Given the description of an element on the screen output the (x, y) to click on. 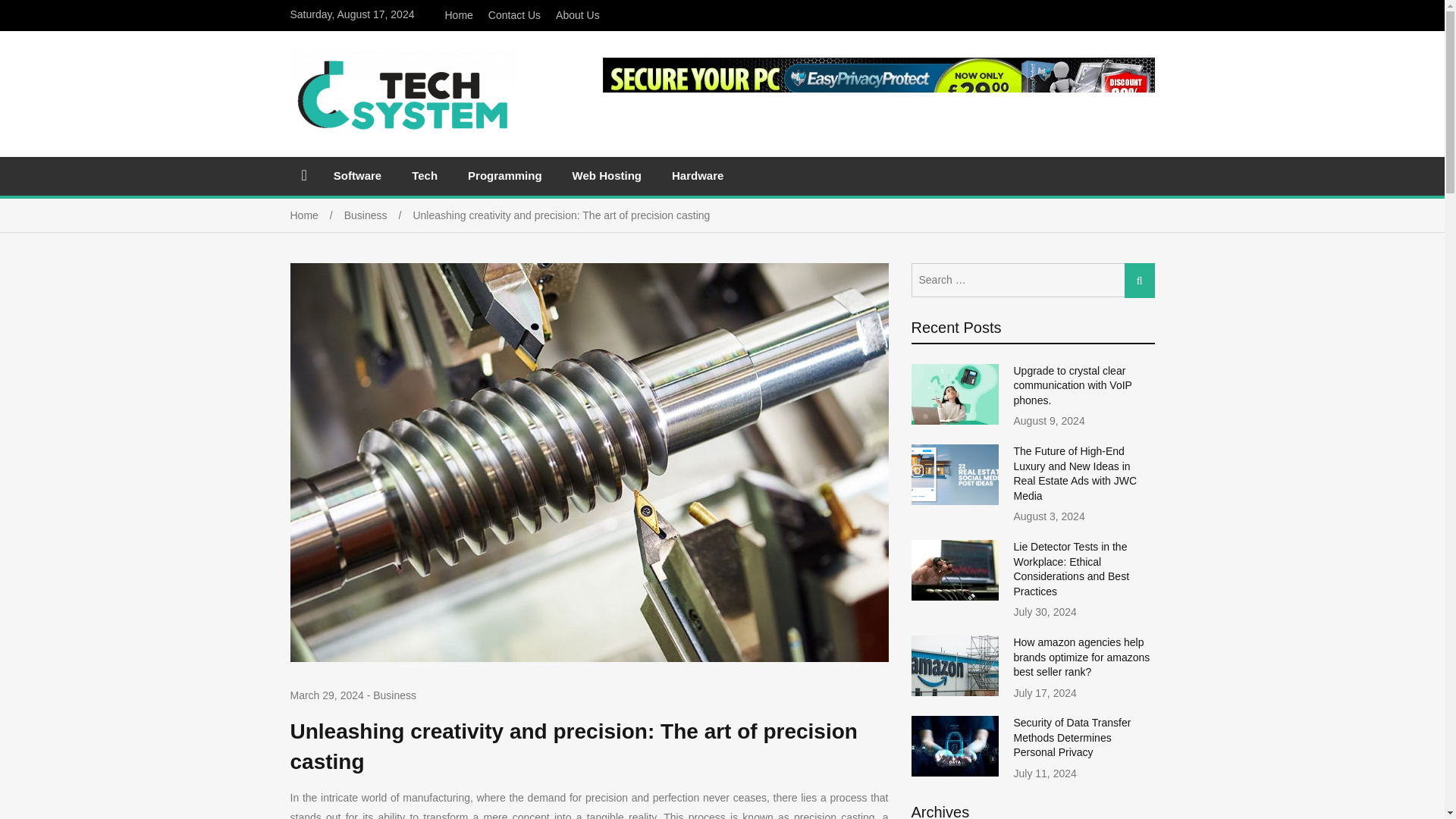
Business (378, 215)
Programming (504, 175)
Software (357, 175)
Web Hosting (606, 175)
Contact Us (514, 15)
Hardware (697, 175)
Home (458, 15)
March 29, 2024 (325, 695)
About Us (577, 15)
Home (316, 215)
